Given the description of an element on the screen output the (x, y) to click on. 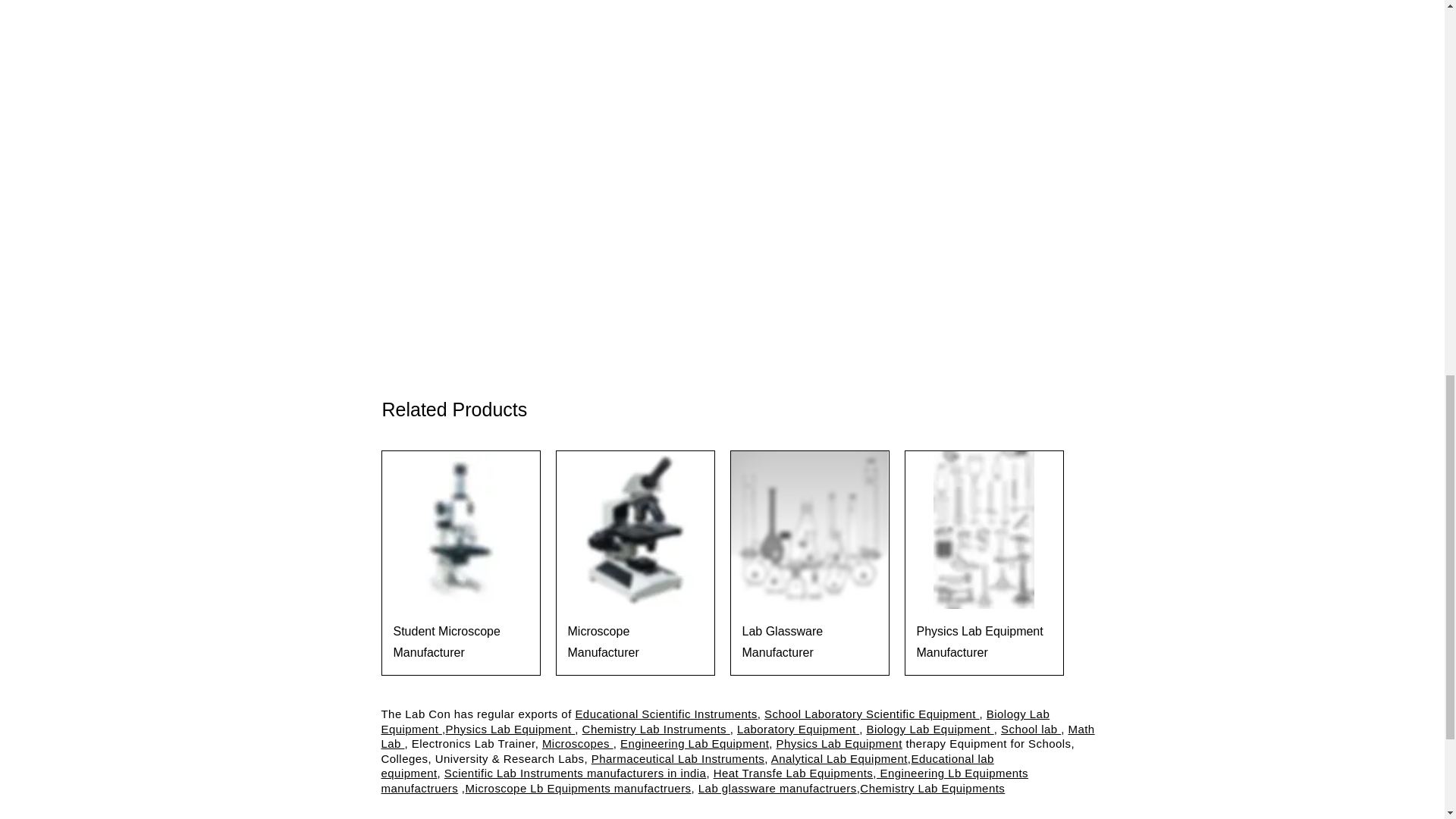
Physics Lab Equipment Manufacturer (983, 641)
Student Microscope Manufacturer (460, 641)
Lab Glassware Manufacturer (808, 641)
Microscope Manufacturer (634, 641)
